Given the description of an element on the screen output the (x, y) to click on. 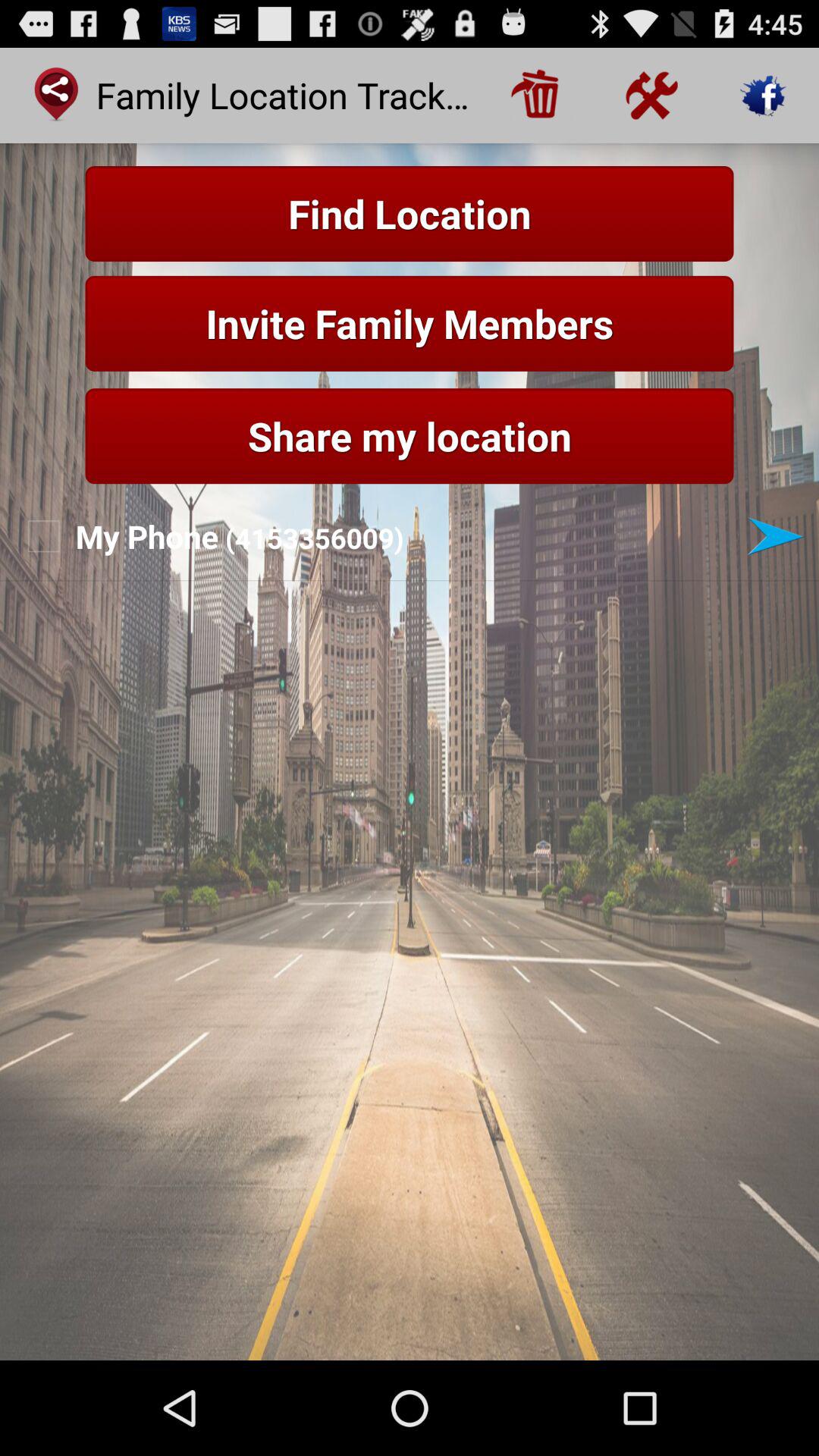
next button (775, 536)
